Given the description of an element on the screen output the (x, y) to click on. 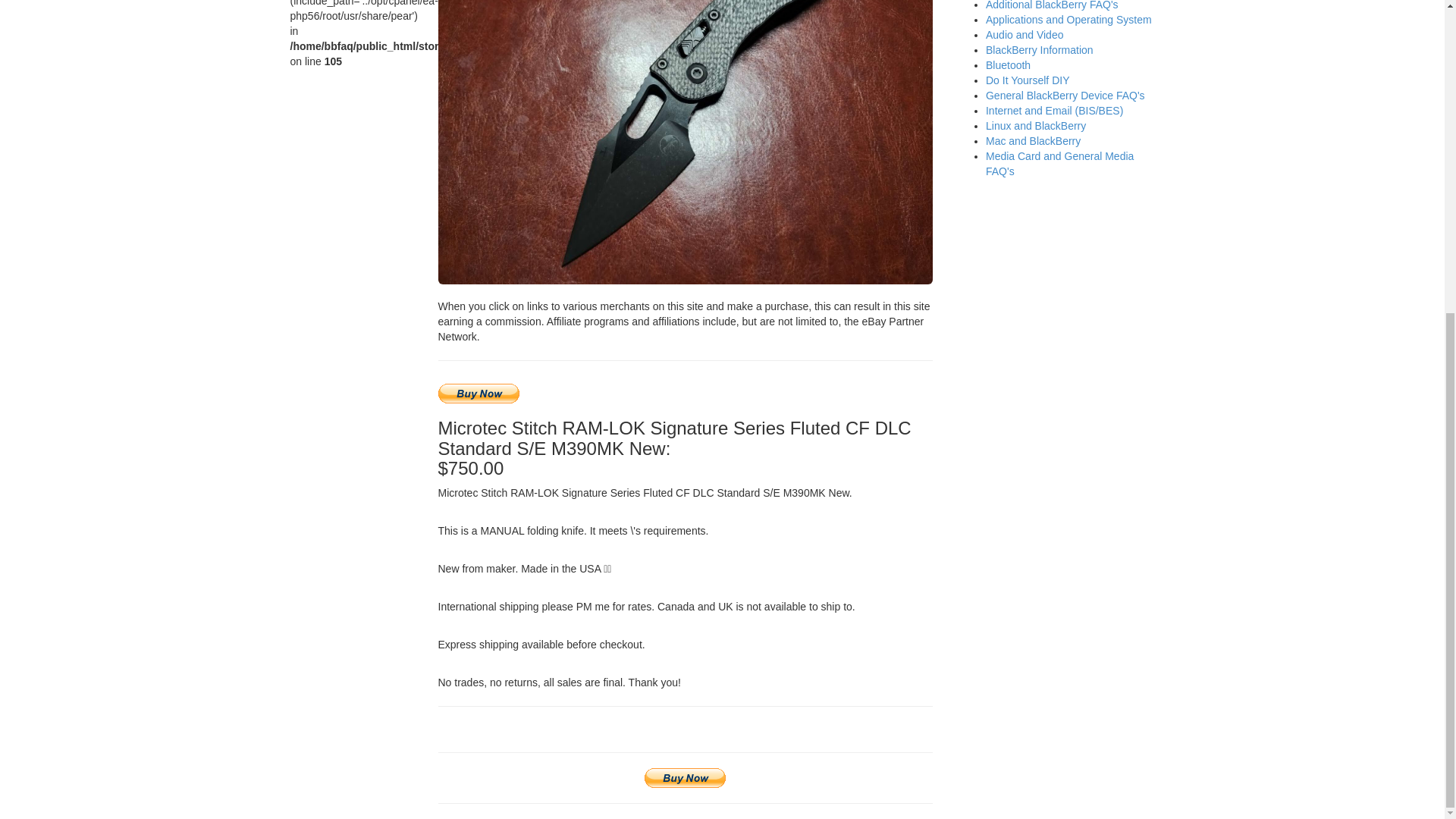
BlackBerry Information (1039, 50)
Buy Now (478, 393)
Do It Yourself DIY (1027, 80)
Applications and Operating System (1068, 19)
Buy Now (685, 777)
Media Card and General Media FAQ's (1059, 163)
Additional BlackBerry FAQ's (1051, 5)
Bluetooth (1007, 64)
Audio and Video (1024, 34)
Linux and BlackBerry (1035, 125)
Mac and BlackBerry (1032, 141)
General BlackBerry Device FAQ's (1064, 95)
